Given the description of an element on the screen output the (x, y) to click on. 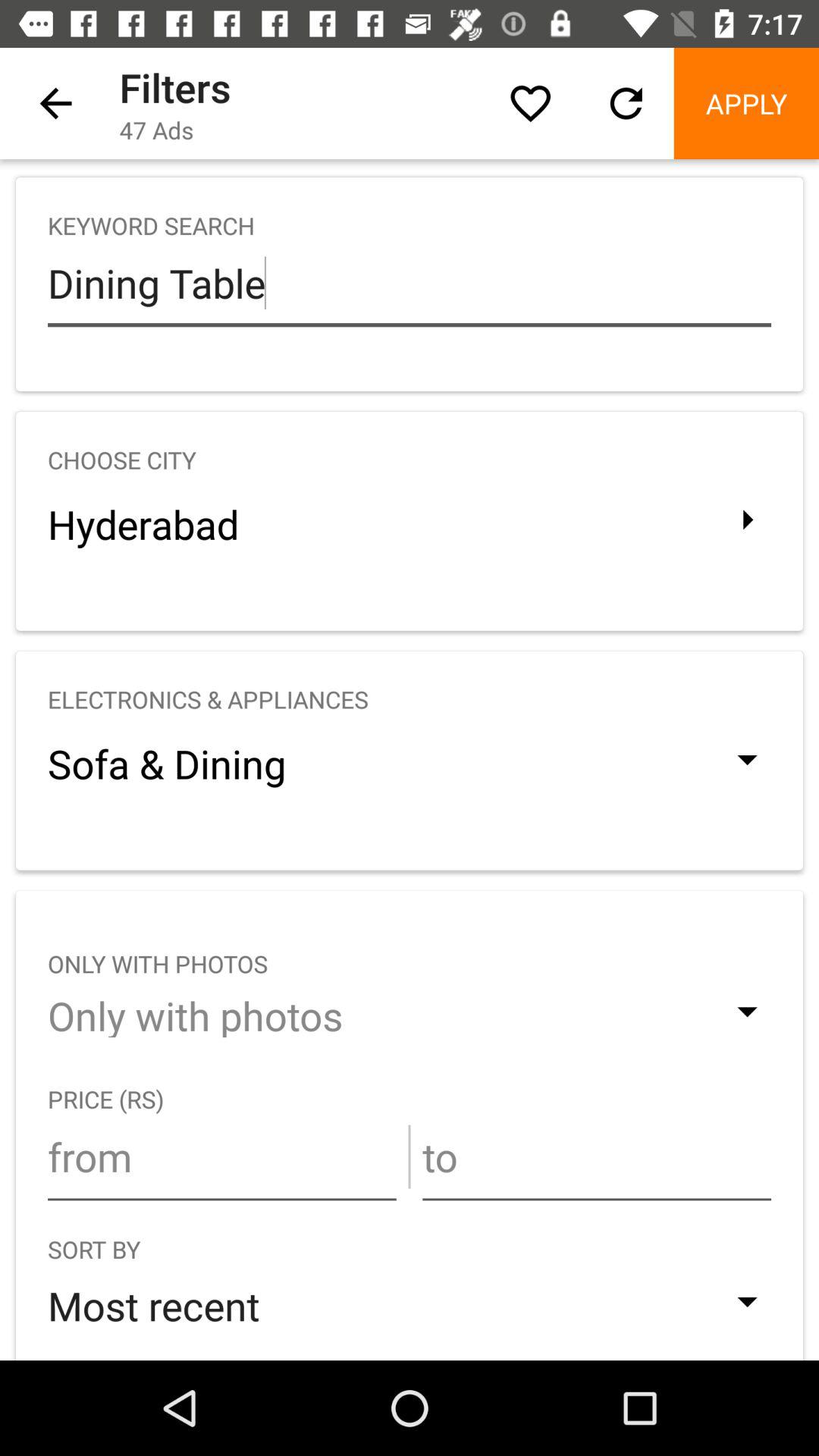
turn off item above the keyword search (746, 103)
